Given the description of an element on the screen output the (x, y) to click on. 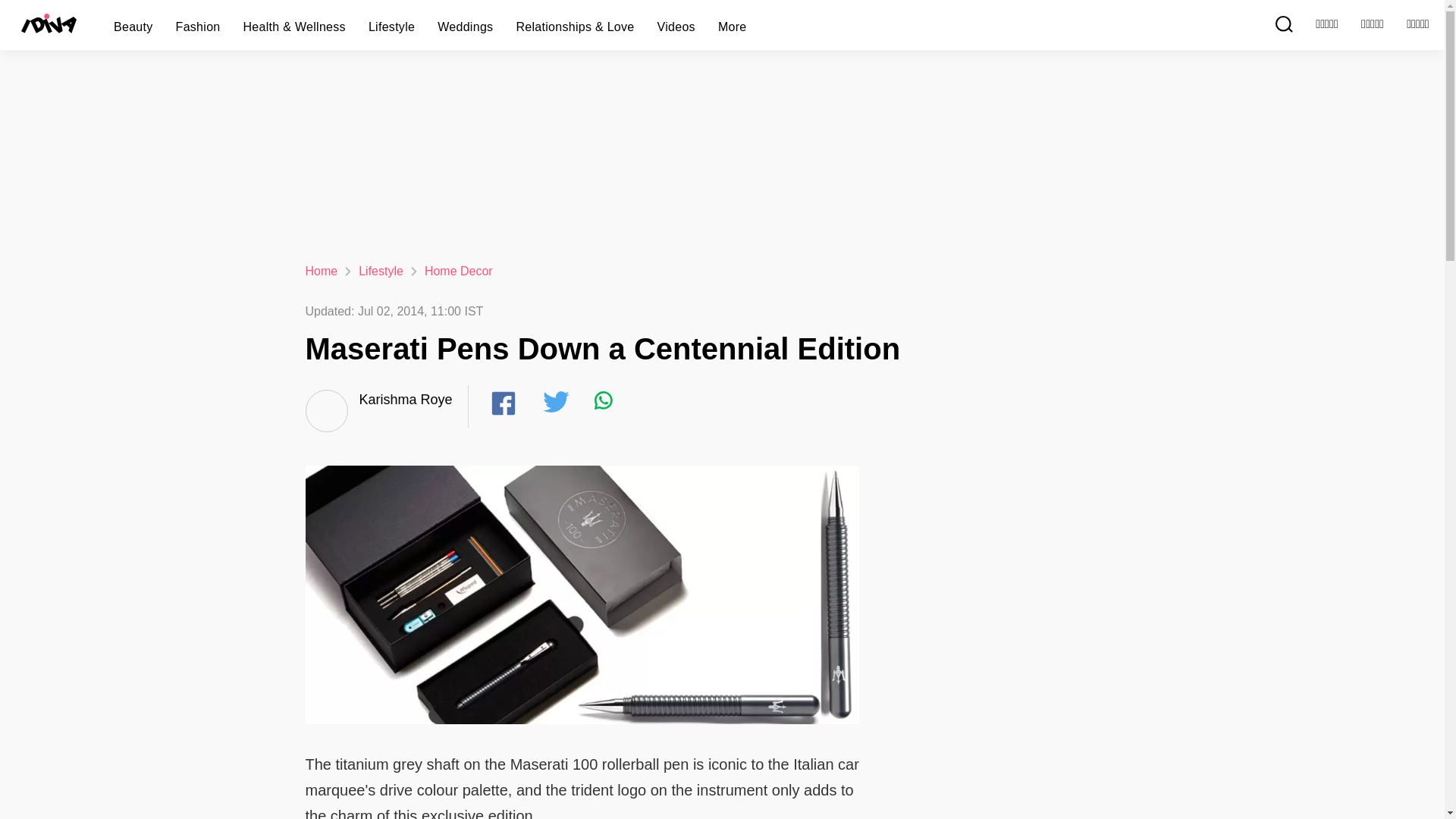
Home (320, 270)
Lifestyle (380, 270)
Home Decor (459, 270)
